Given the description of an element on the screen output the (x, y) to click on. 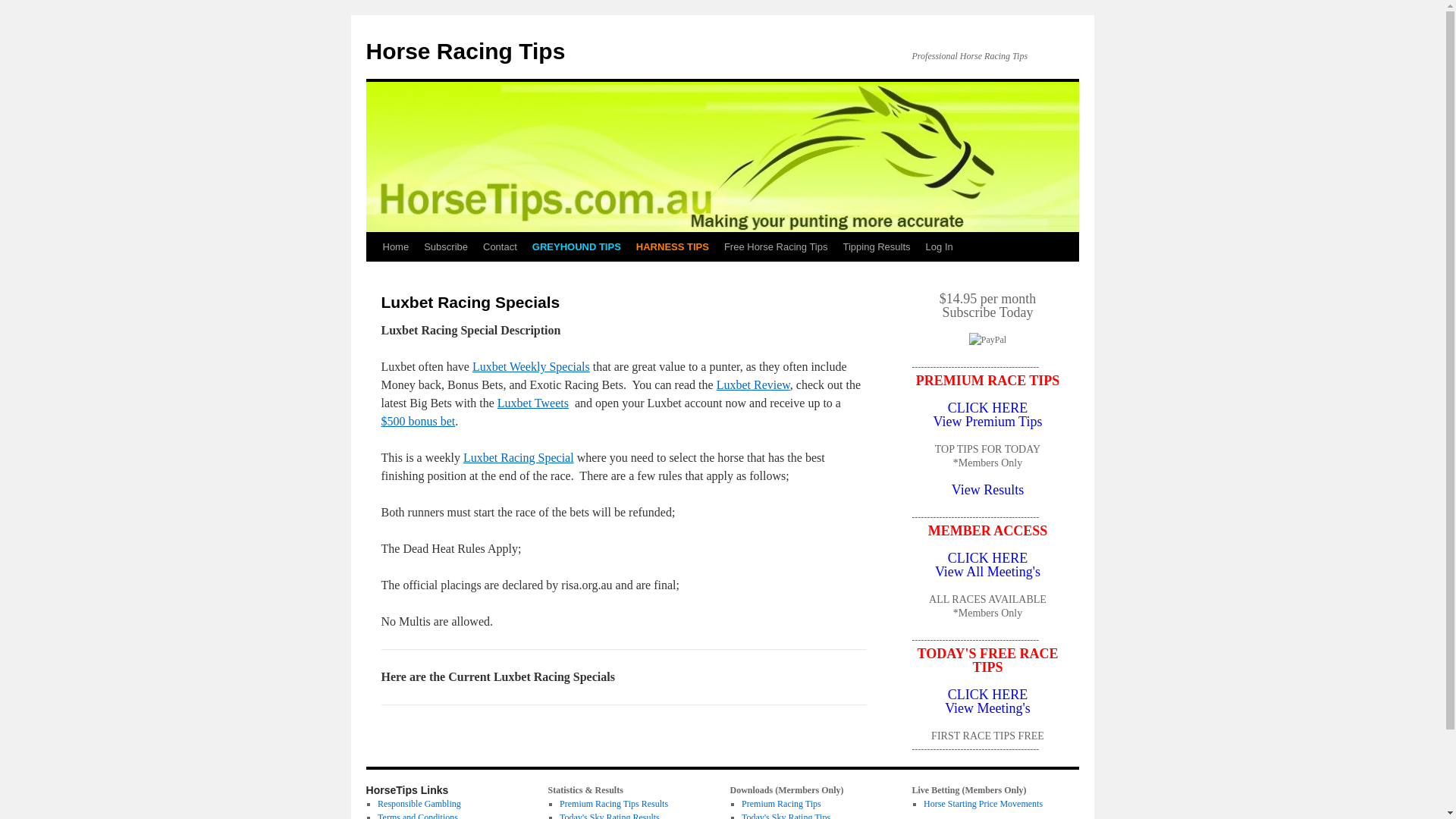
Home Element type: text (395, 246)
HARNESS TIPS Element type: text (672, 246)
Skip to content Element type: text (372, 275)
Free Horse Racing Tips Element type: text (775, 246)
Contact Element type: text (499, 246)
CLICK HERE
View Meeting's Element type: text (987, 701)
CLICK HERE
View All Meeting's Element type: text (987, 564)
Premium Racing Tips Results Element type: text (613, 803)
Luxbet Weekly Specials Element type: text (530, 366)
Log In Element type: text (939, 246)
Premium Racing Tips Element type: text (781, 803)
CLICK HERE
View Premium Tips Element type: text (987, 414)
$500 bonus bet Element type: text (417, 420)
GREYHOUND TIPS Element type: text (576, 246)
View Results Element type: text (987, 489)
Horse Racing Tips Element type: text (464, 50)
Luxbet Review Element type: text (753, 384)
Responsible Gambling Element type: text (419, 803)
Tipping Results Element type: text (875, 246)
Horse Starting Price Movements Element type: text (982, 803)
Subscribe Element type: text (445, 246)
Luxbet Racing Special Element type: text (518, 457)
Luxbet Tweets Element type: text (532, 402)
